Given the description of an element on the screen output the (x, y) to click on. 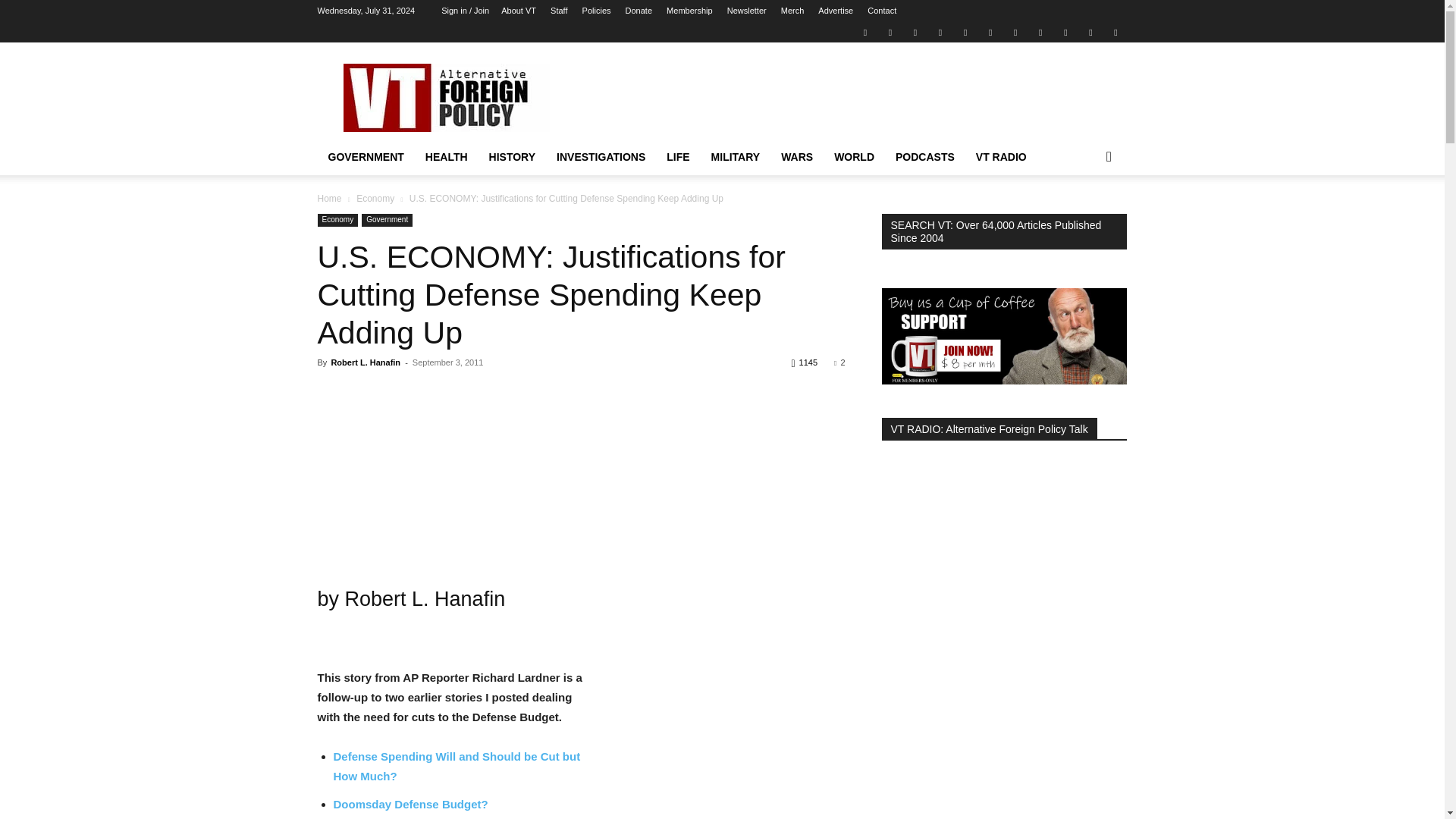
Reddit (940, 31)
Policies (596, 10)
Membership (689, 10)
Blogger (864, 31)
Staff (558, 10)
Donate (639, 10)
Newsletter (746, 10)
Mail (915, 31)
Contact (881, 10)
Rumble (964, 31)
Merch (792, 10)
Facebook (890, 31)
About VT (517, 10)
Advertise (835, 10)
